Given the description of an element on the screen output the (x, y) to click on. 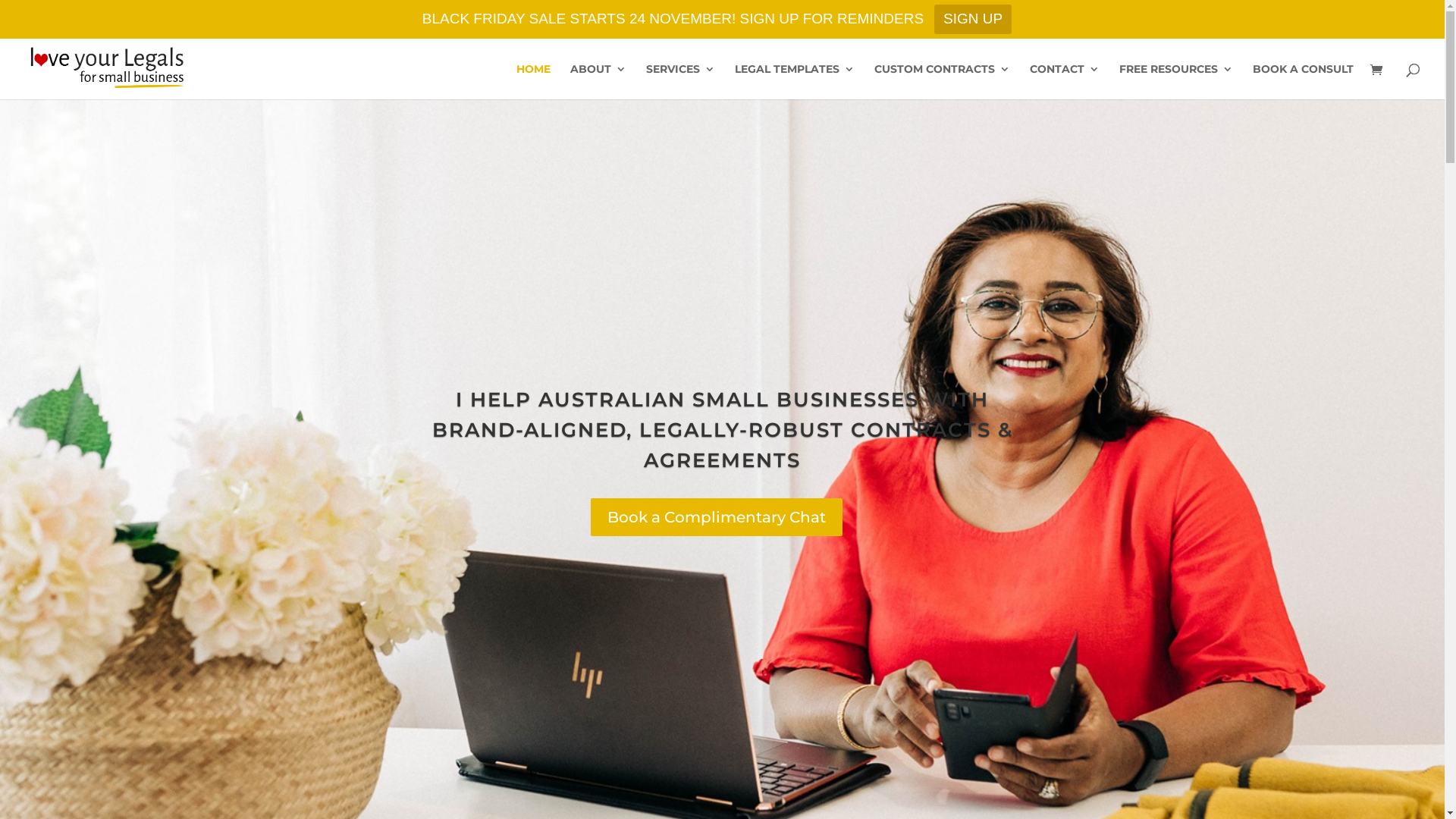
FREE RESOURCES Element type: text (1176, 81)
ABOUT Element type: text (598, 81)
Book a Complimentary Chat Element type: text (716, 517)
CUSTOM CONTRACTS Element type: text (942, 81)
SIGN UP Element type: text (972, 19)
CONTACT Element type: text (1064, 81)
LEGAL TEMPLATES Element type: text (794, 81)
BOOK A CONSULT Element type: text (1302, 81)
SERVICES Element type: text (680, 81)
HOME Element type: text (533, 81)
